Given the description of an element on the screen output the (x, y) to click on. 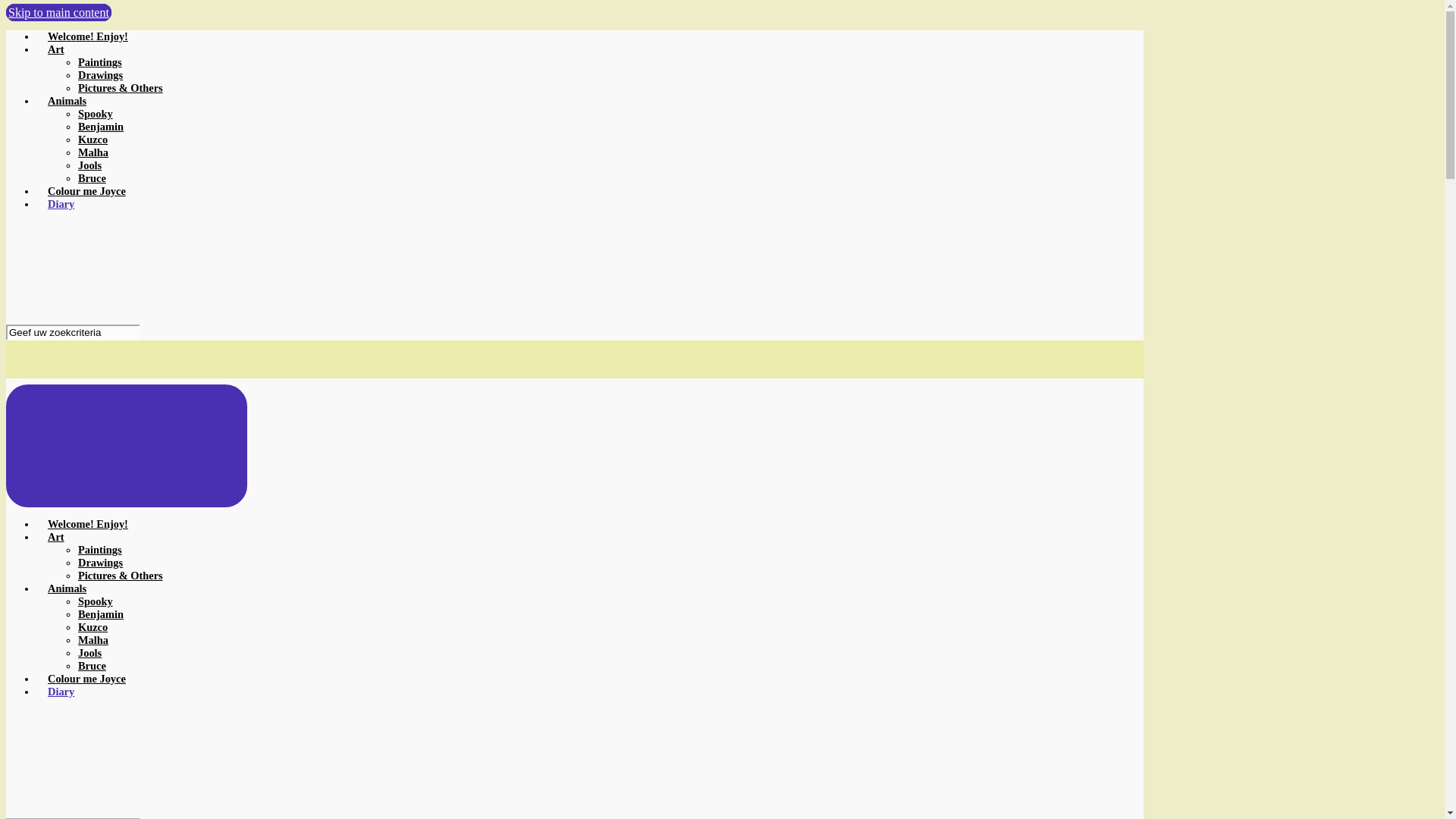
Paintings (100, 61)
Paintings (100, 549)
Drawings (100, 562)
Malha (92, 152)
Malha (92, 639)
Jools (89, 164)
Benjamin (100, 613)
Skip to main content (58, 12)
Kuzco (92, 626)
Kuzco (92, 139)
